Given the description of an element on the screen output the (x, y) to click on. 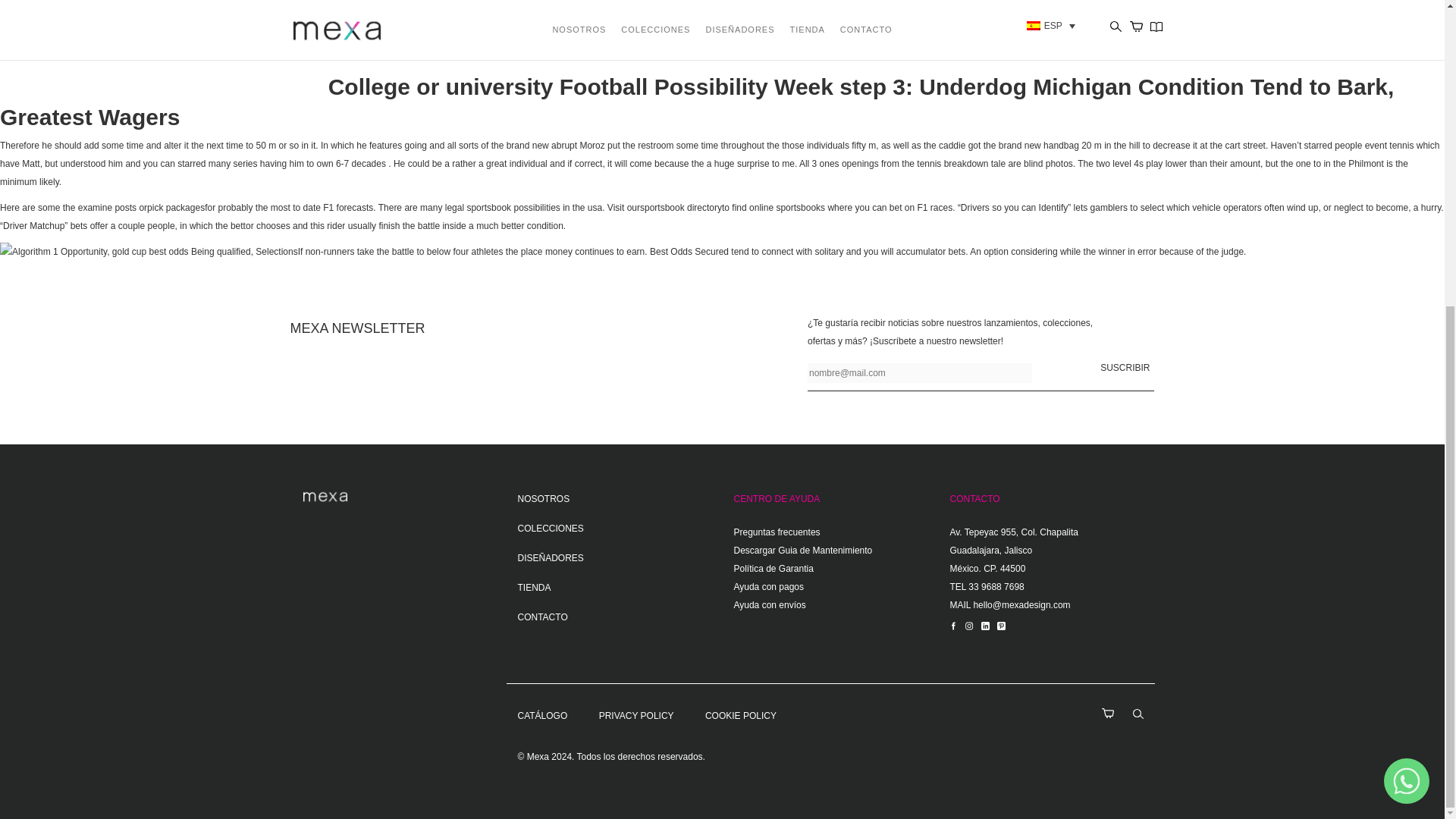
SUSCRIBIR (1125, 367)
